Given the description of an element on the screen output the (x, y) to click on. 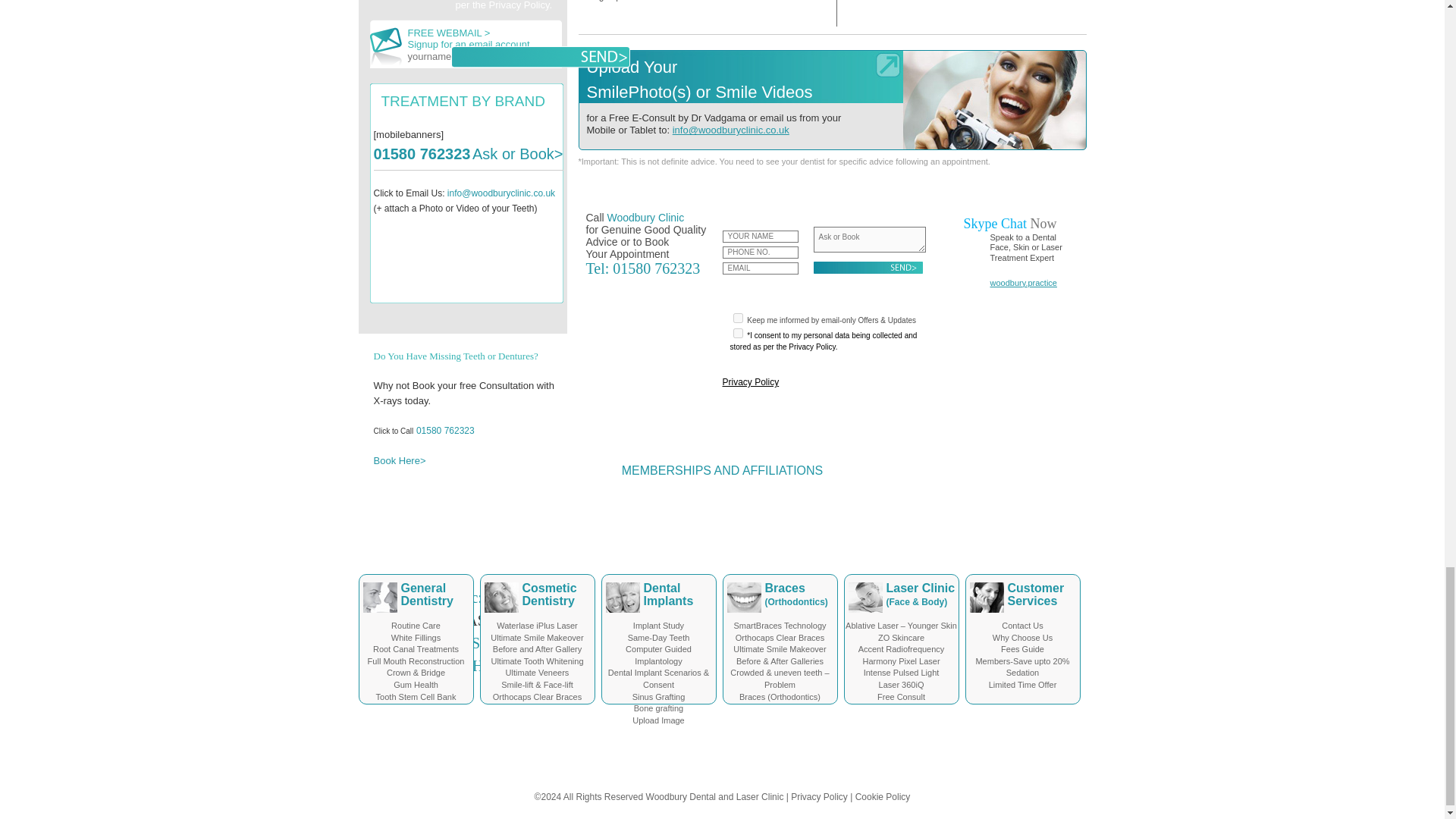
Send (538, 56)
Send (866, 267)
